Given the description of an element on the screen output the (x, y) to click on. 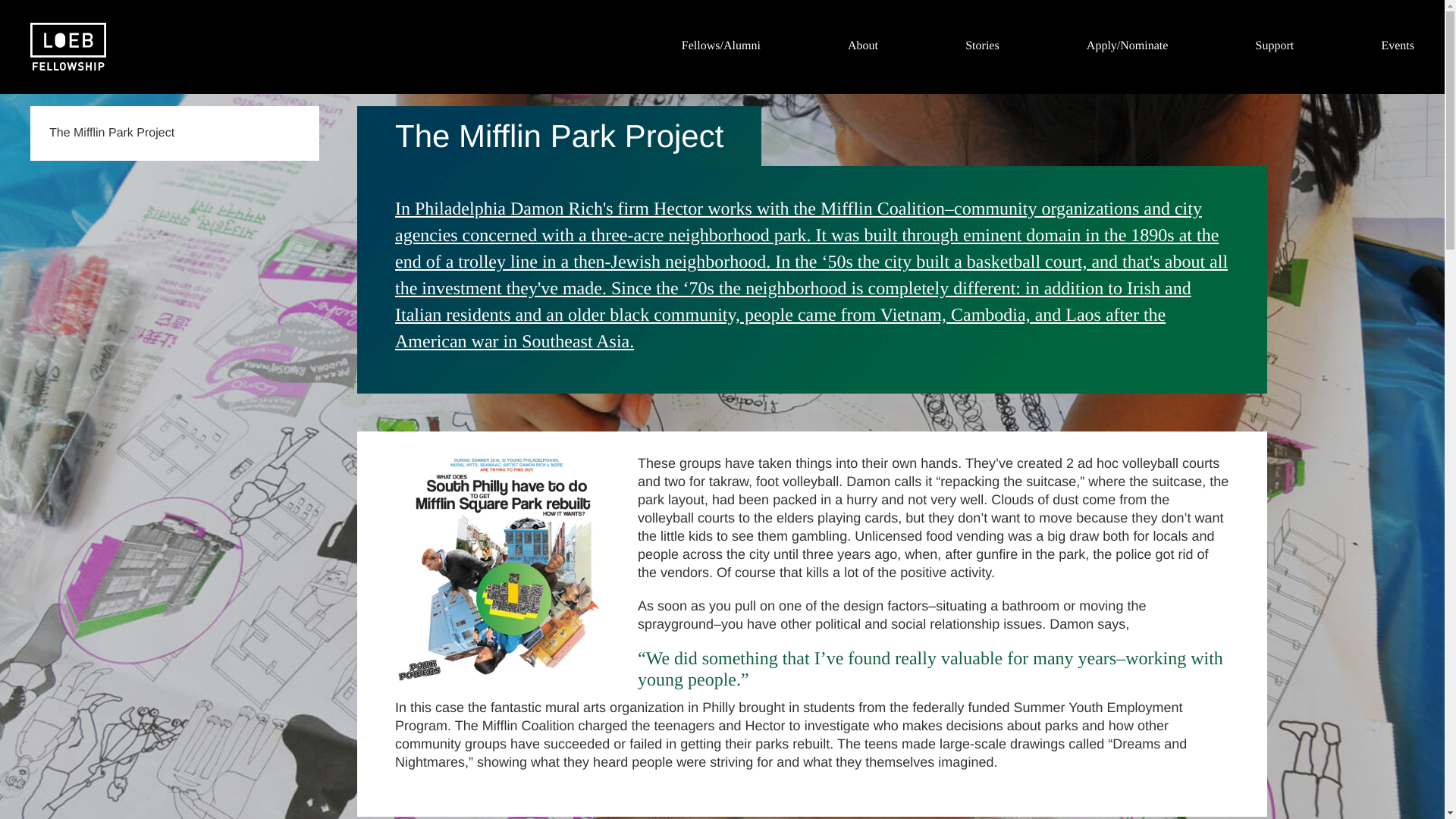
The Mifflin Park Project (174, 133)
The LOEB Fellowship (68, 46)
